Given the description of an element on the screen output the (x, y) to click on. 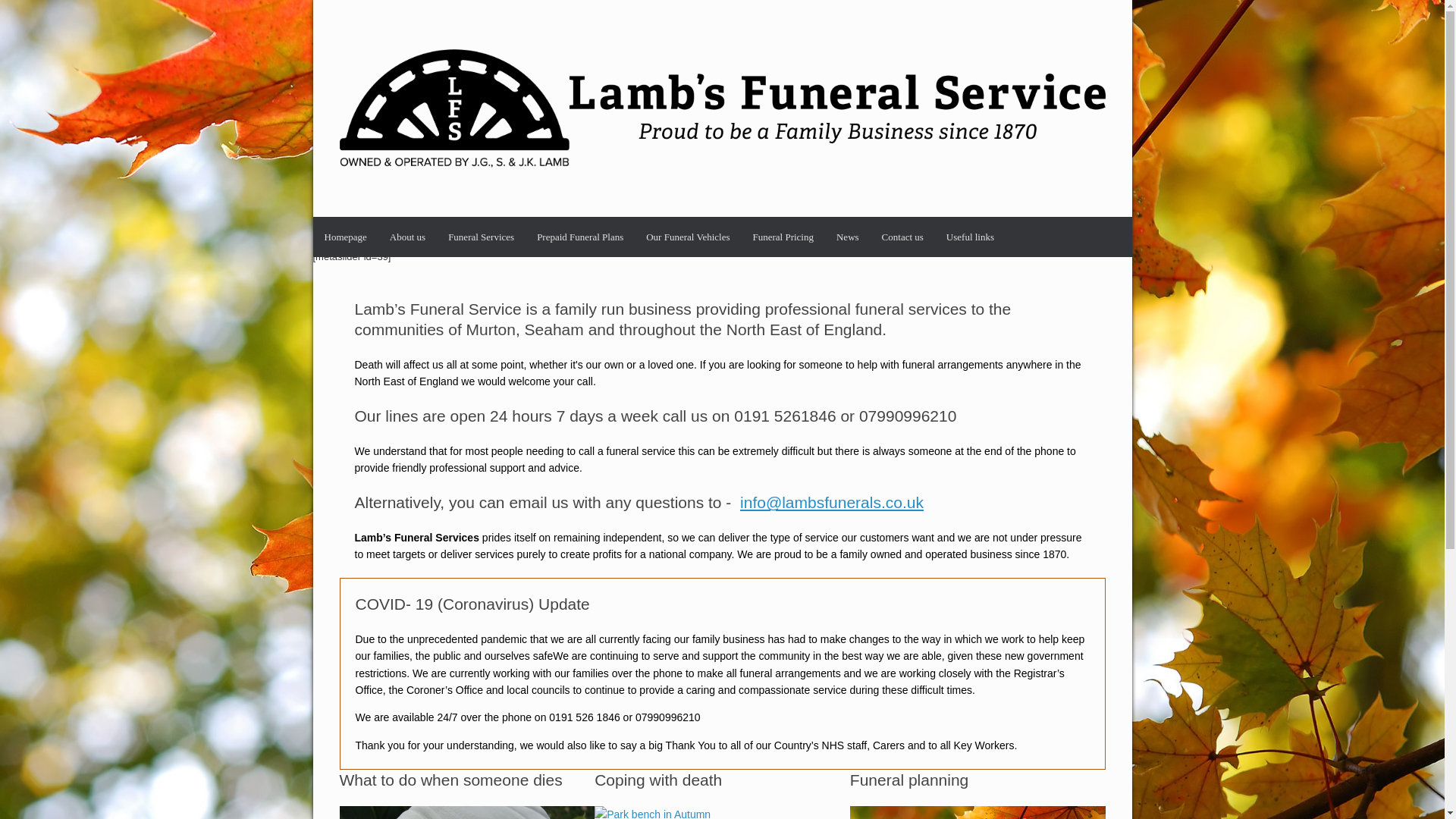
Homepage (345, 237)
Funeral Services (480, 237)
Useful links (970, 237)
Contact us (902, 237)
Funeral Pricing (783, 237)
Our Funeral Vehicles (687, 237)
About us (407, 237)
News (847, 237)
Prepaid Funeral Plans (579, 237)
